Given the description of an element on the screen output the (x, y) to click on. 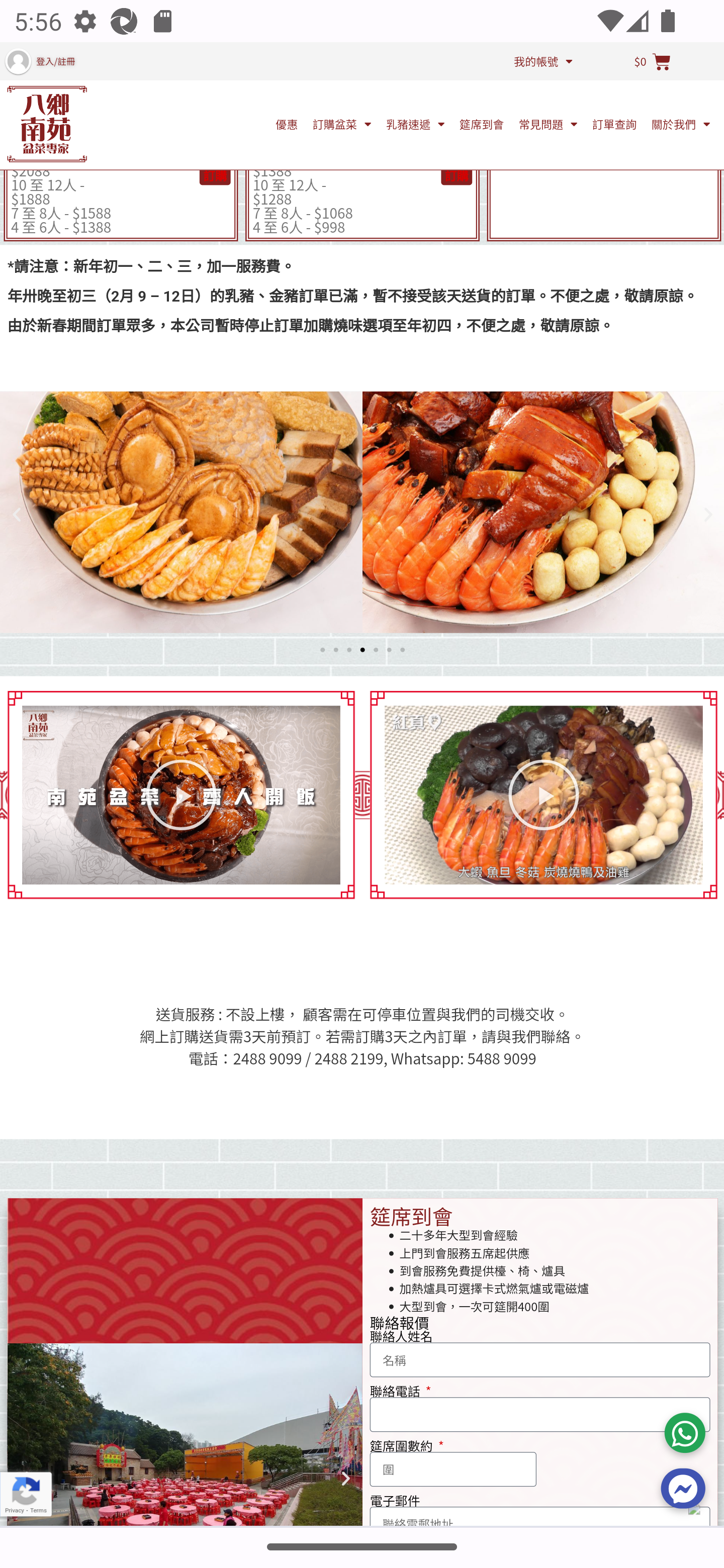
$0  購物籃 $ 0  (652, 61)
我的帳號  我的帳號  (543, 60)
my-account (17, 60)
登入/註冊 (55, 61)
www.poonchoi (46, 123)
訂購盆菜  訂購盆菜  (341, 123)
乳豬速遞  乳豬速遞  (414, 123)
筵席到會 (481, 123)
常見問題  常見問題  (547, 123)
訂單查詢 (614, 123)
關於我們  關於我們  (680, 123)
訂購 (214, 175)
訂購 (456, 175)
Previous slide (16, 514)
Next slide (708, 514)
Go to slide 1 (322, 649)
Go to slide 2 (335, 649)
Go to slide 3 (348, 649)
Go to slide 4 (361, 649)
Go to slide 5 (375, 649)
Go to slide 6 (388, 649)
Go to slide 7 (401, 649)
播放影音 (181, 795)
播放影音 (543, 795)
播放影音 (180, 794)
播放影音 (543, 794)
Previous slide Next slide (184, 1435)
筵席圍數約 * (453, 1469)
Next slide (345, 1479)
